Given the description of an element on the screen output the (x, y) to click on. 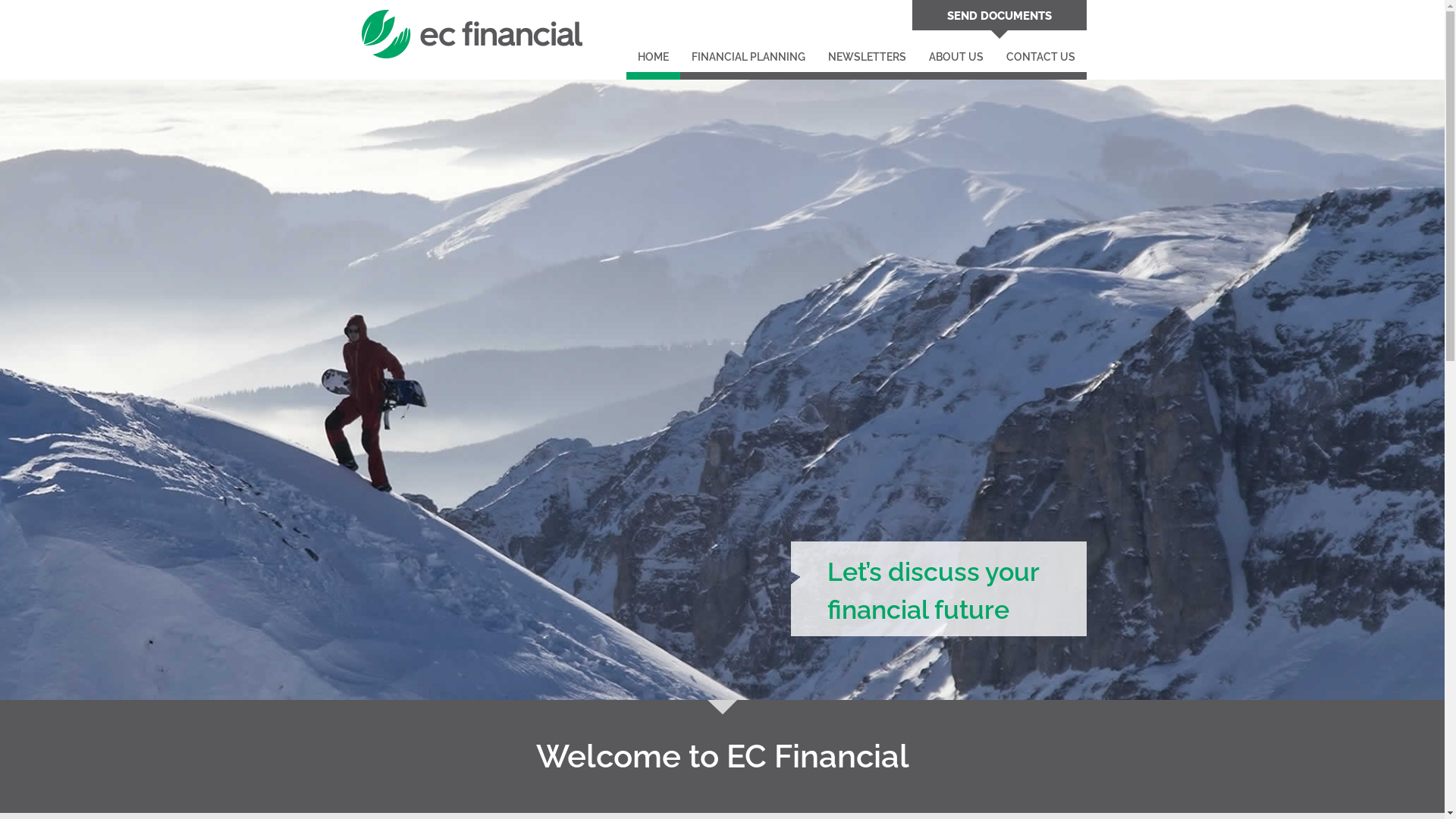
FINANCIAL PLANNING Element type: text (747, 61)
NEWSLETTERS Element type: text (865, 61)
HOME Element type: text (653, 61)
ABOUT US Element type: text (955, 61)
CONTACT US Element type: text (1040, 61)
